Given the description of an element on the screen output the (x, y) to click on. 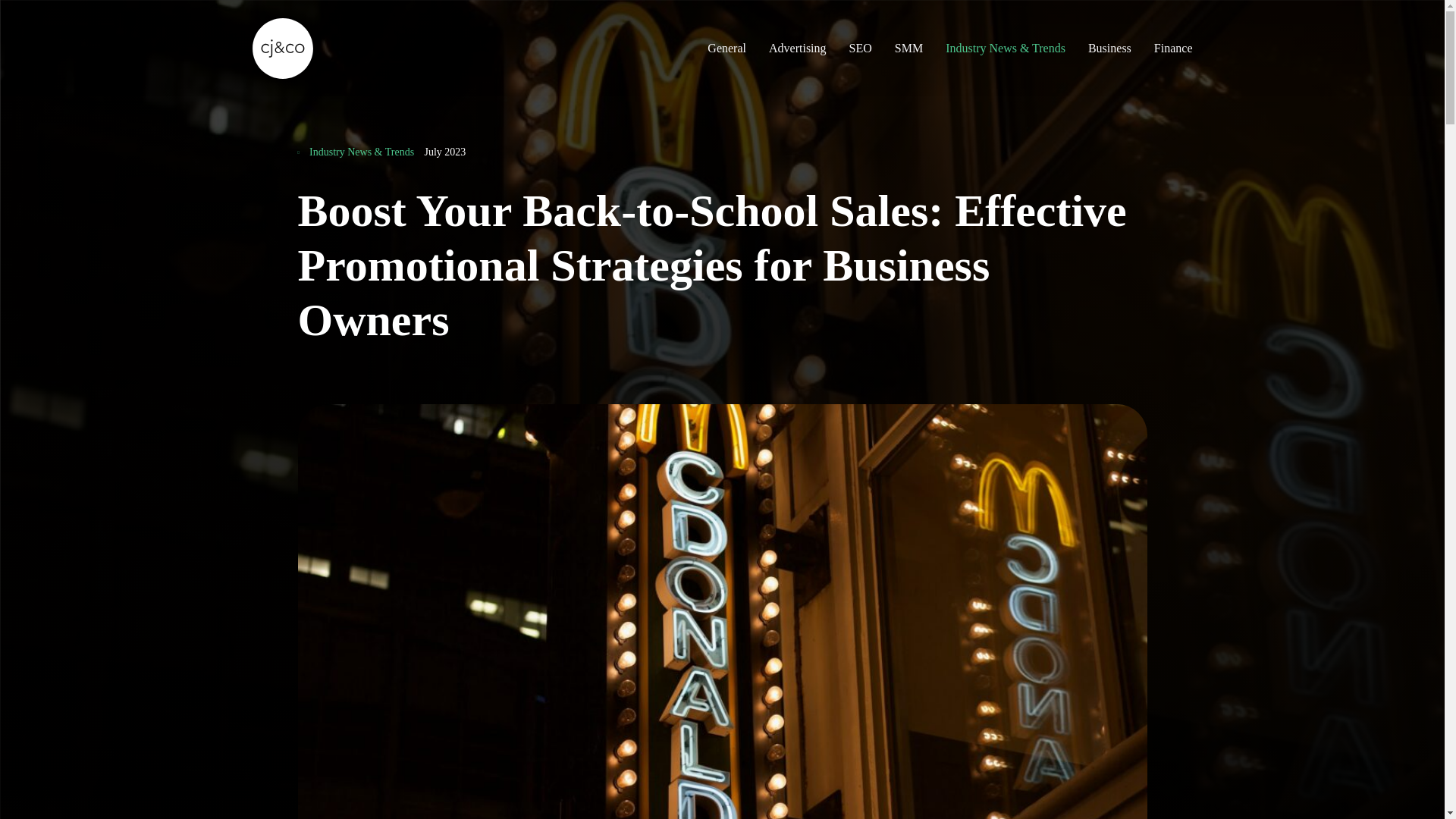
General (726, 48)
SEO (860, 48)
Advertising (797, 48)
SMM (909, 48)
Business (1109, 48)
Finance (1173, 48)
